Given the description of an element on the screen output the (x, y) to click on. 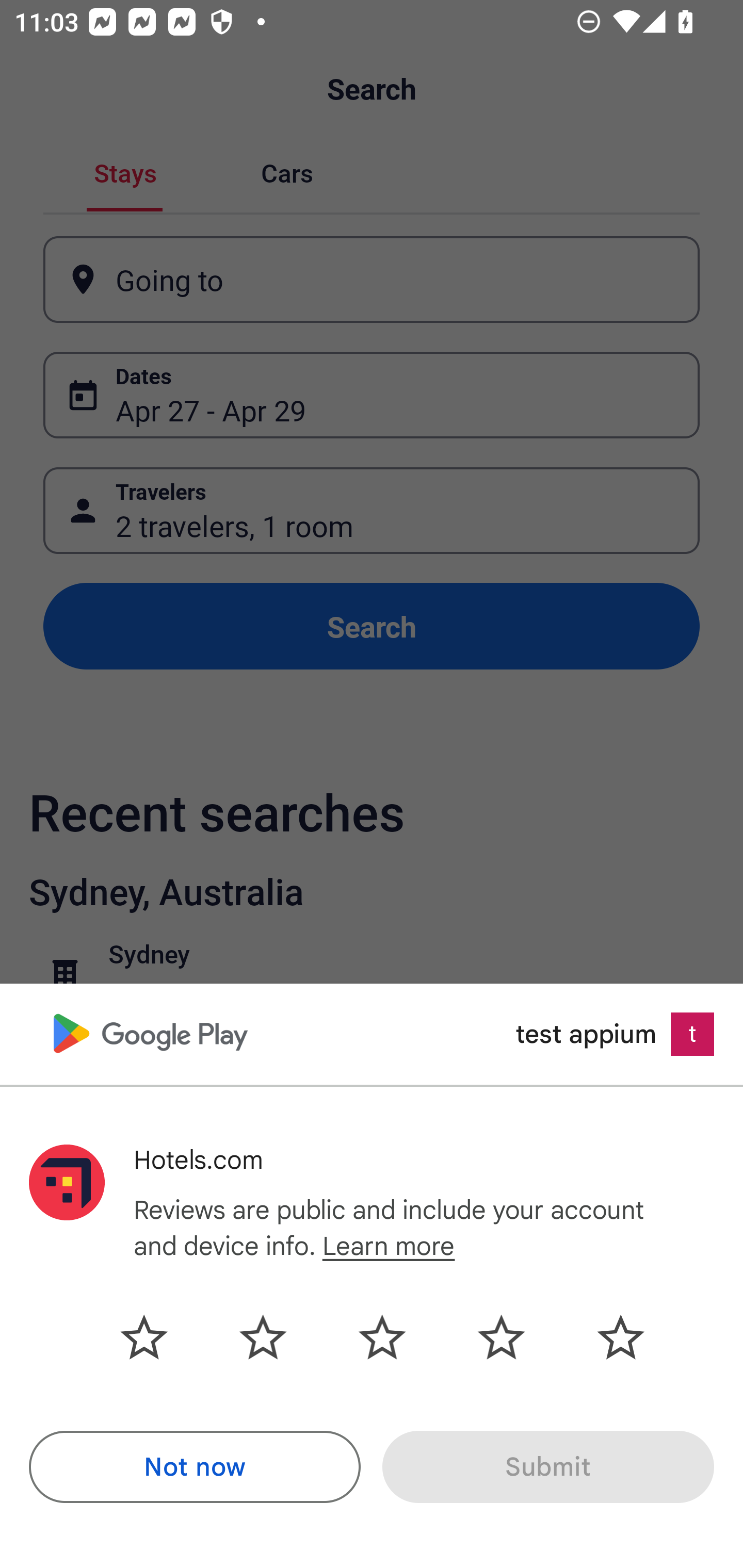
First star unselected (159, 1336)
Second star unselected (262, 1336)
Third star unselected (381, 1336)
Fourth star unselected (500, 1336)
Fifth star unselected (604, 1336)
Not now (194, 1466)
